Given the description of an element on the screen output the (x, y) to click on. 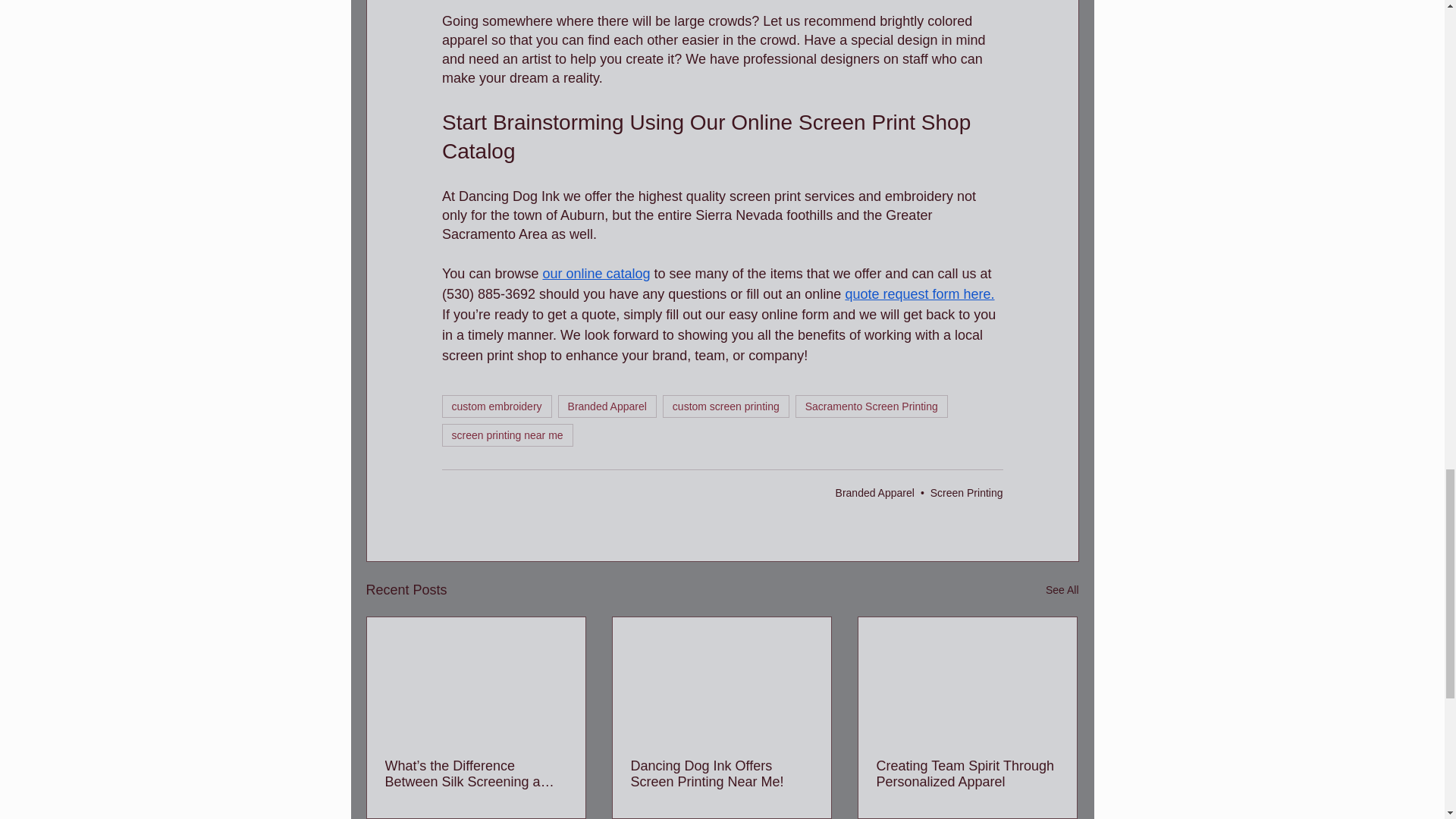
custom embroidery (496, 405)
Screen Printing (966, 492)
Branded Apparel (606, 405)
custom screen printing (725, 405)
quote request form here. (919, 294)
screen printing near me (506, 435)
our online catalog (595, 273)
See All (1061, 590)
Sacramento Screen Printing (870, 405)
Branded Apparel (874, 492)
